Given the description of an element on the screen output the (x, y) to click on. 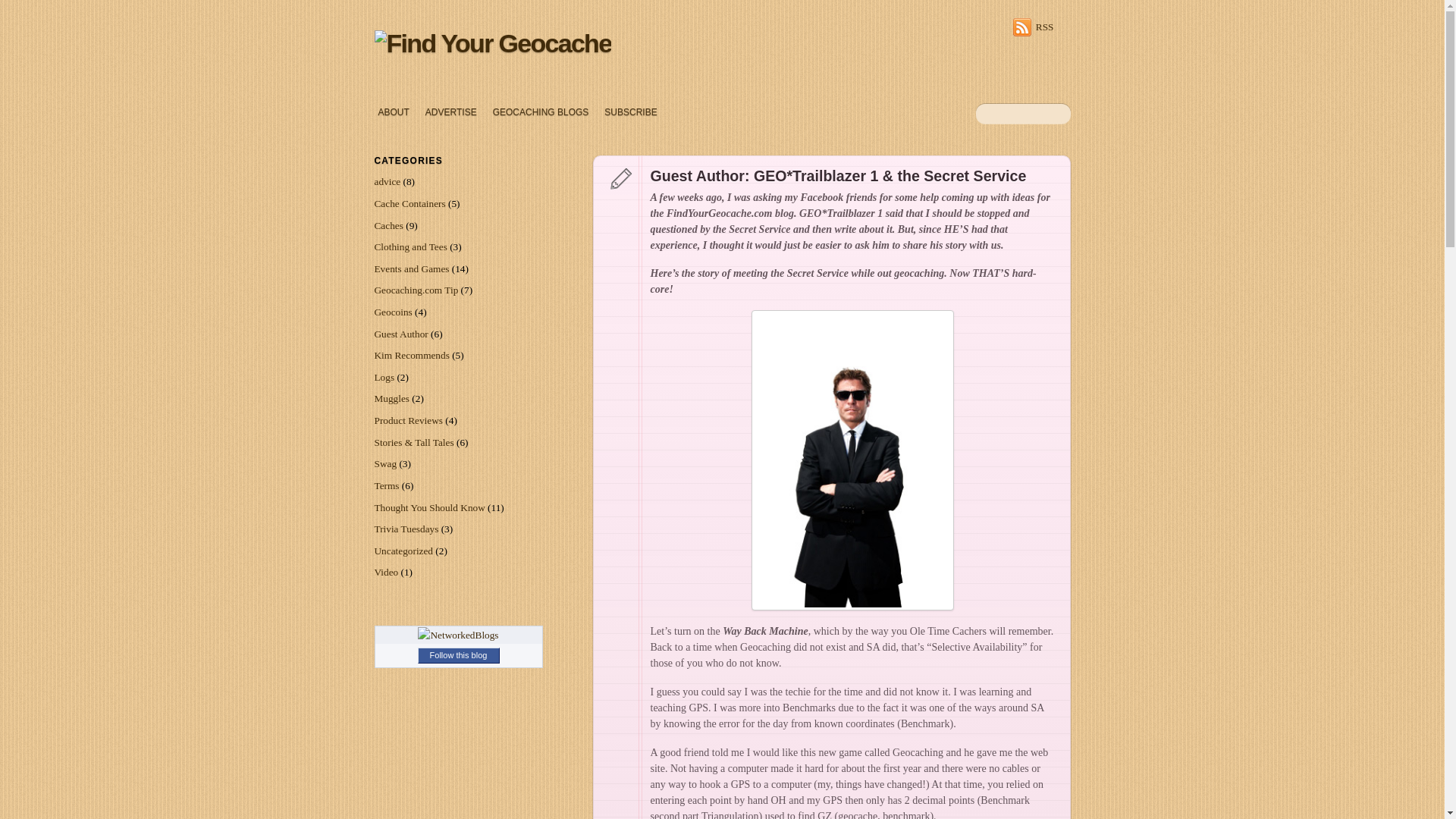
Cache Containers (409, 203)
advice (387, 181)
Find Your Geocache (492, 42)
Clothing and Tees (410, 246)
ABOUT (393, 112)
RSS (1033, 26)
Caches (388, 225)
Geocaching.com Tip (416, 289)
Search (1022, 113)
GEOCACHING BLOGS (541, 112)
